Given the description of an element on the screen output the (x, y) to click on. 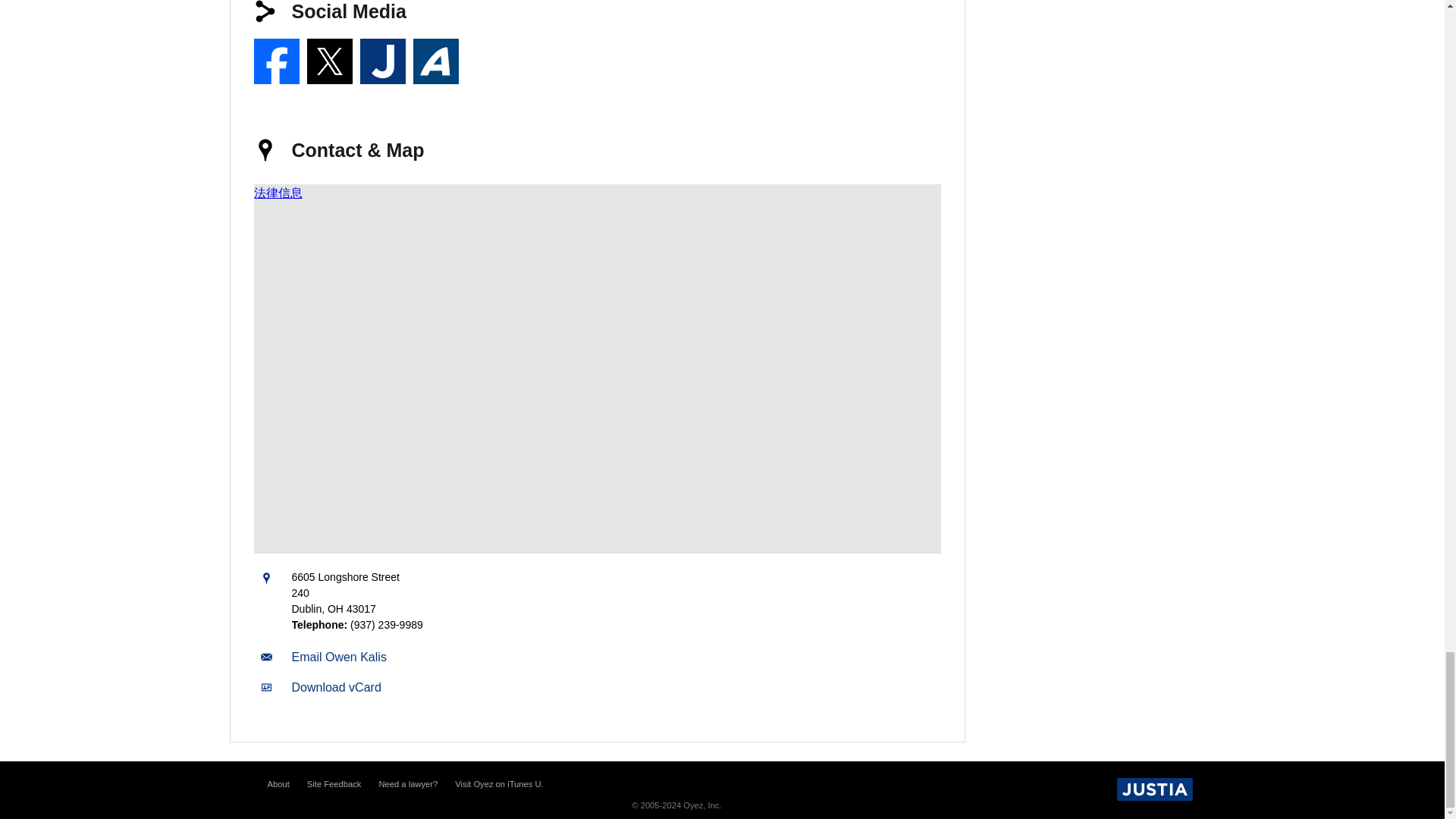
Email Owen Kalis (338, 656)
Owen Kalis's Avvo Profile (435, 61)
Justia Profile (381, 61)
Download vCard (335, 686)
Facebook (275, 61)
Owen Kalis's Avvo Profile (435, 61)
 Justia Profile (381, 61)
X (328, 61)
Owen Kalis on Facebook (275, 61)
